Given the description of an element on the screen output the (x, y) to click on. 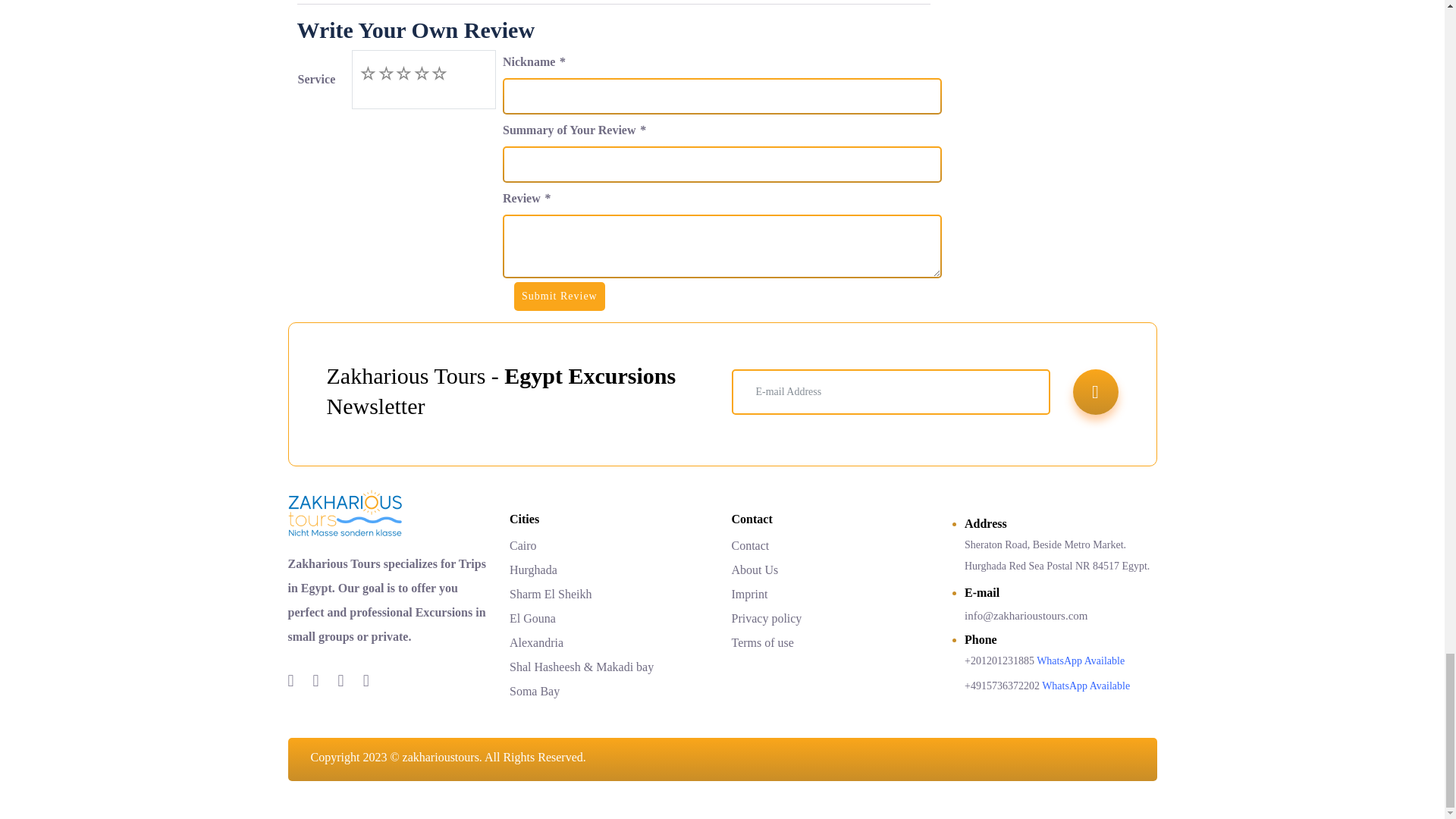
Submit Review (559, 296)
Subscribe (1094, 391)
